Given the description of an element on the screen output the (x, y) to click on. 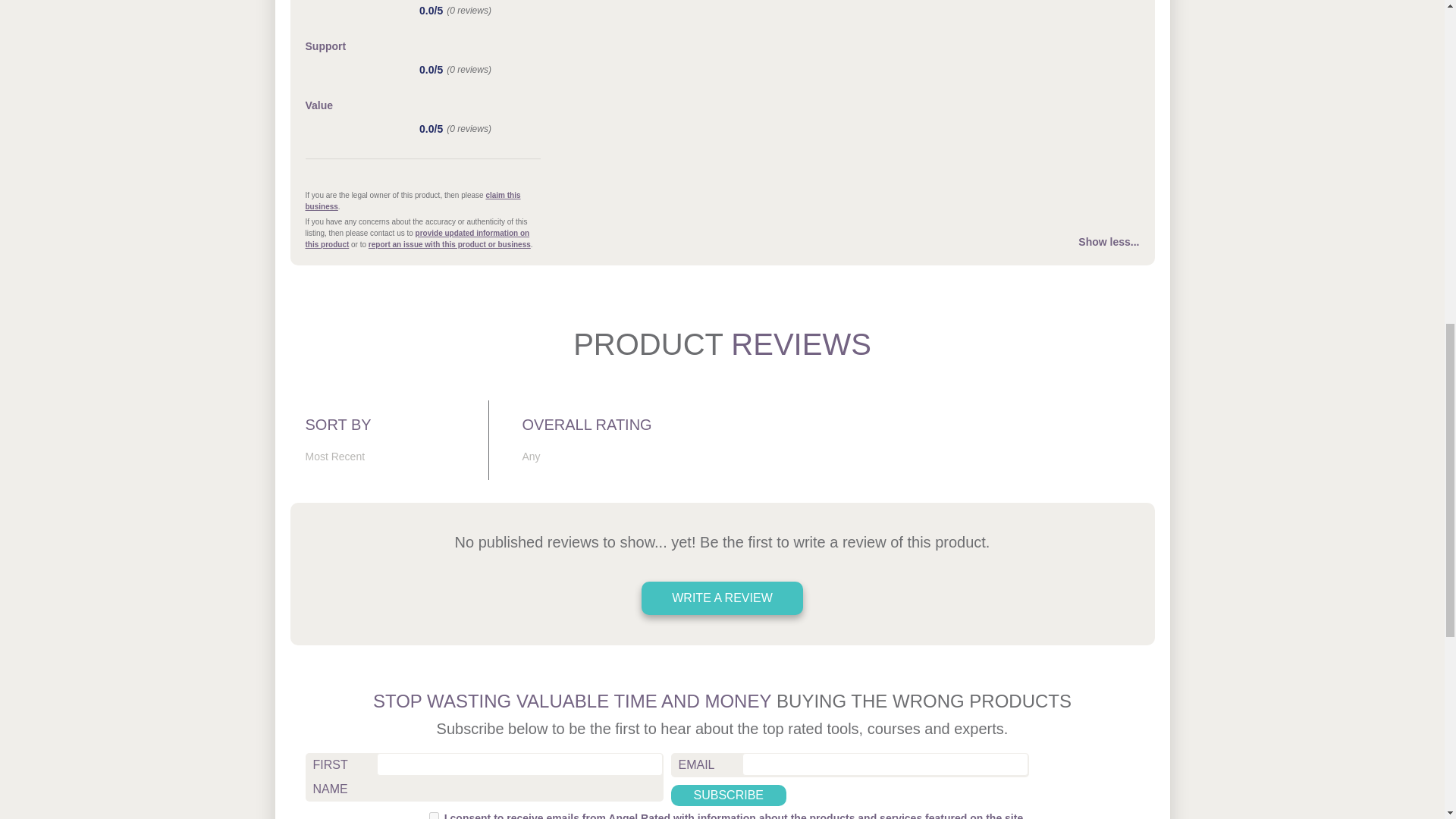
on (434, 815)
